Given the description of an element on the screen output the (x, y) to click on. 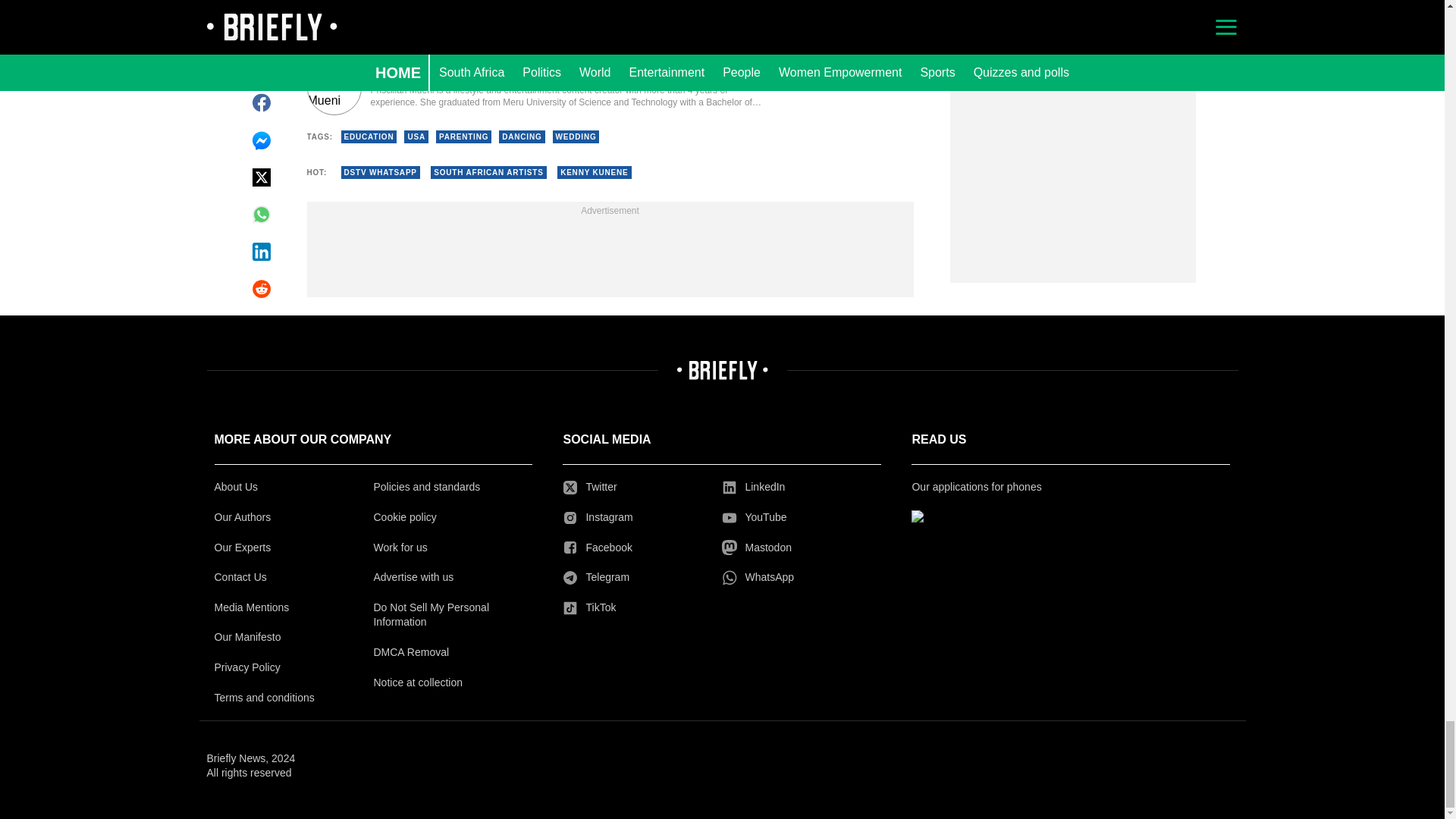
Author page (533, 87)
